Given the description of an element on the screen output the (x, y) to click on. 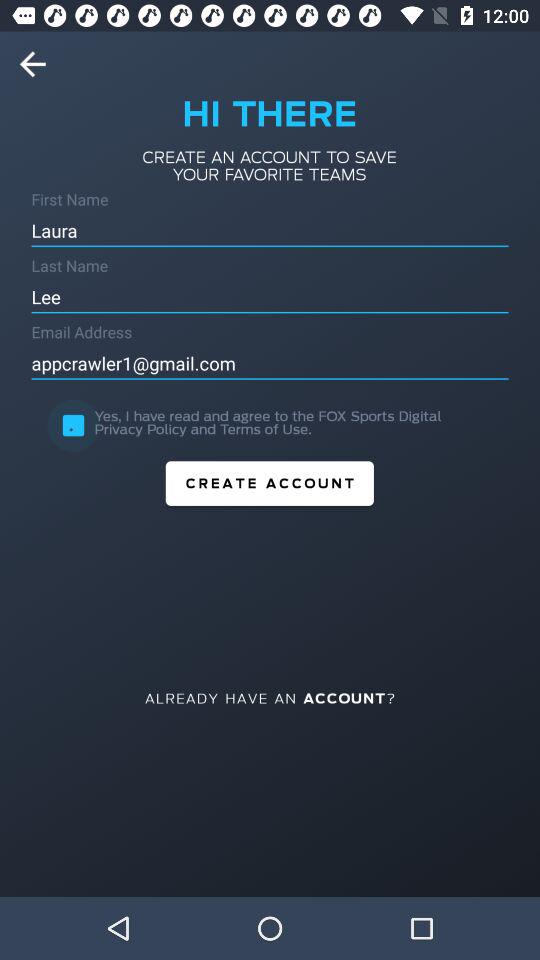
undo (39, 64)
